Given the description of an element on the screen output the (x, y) to click on. 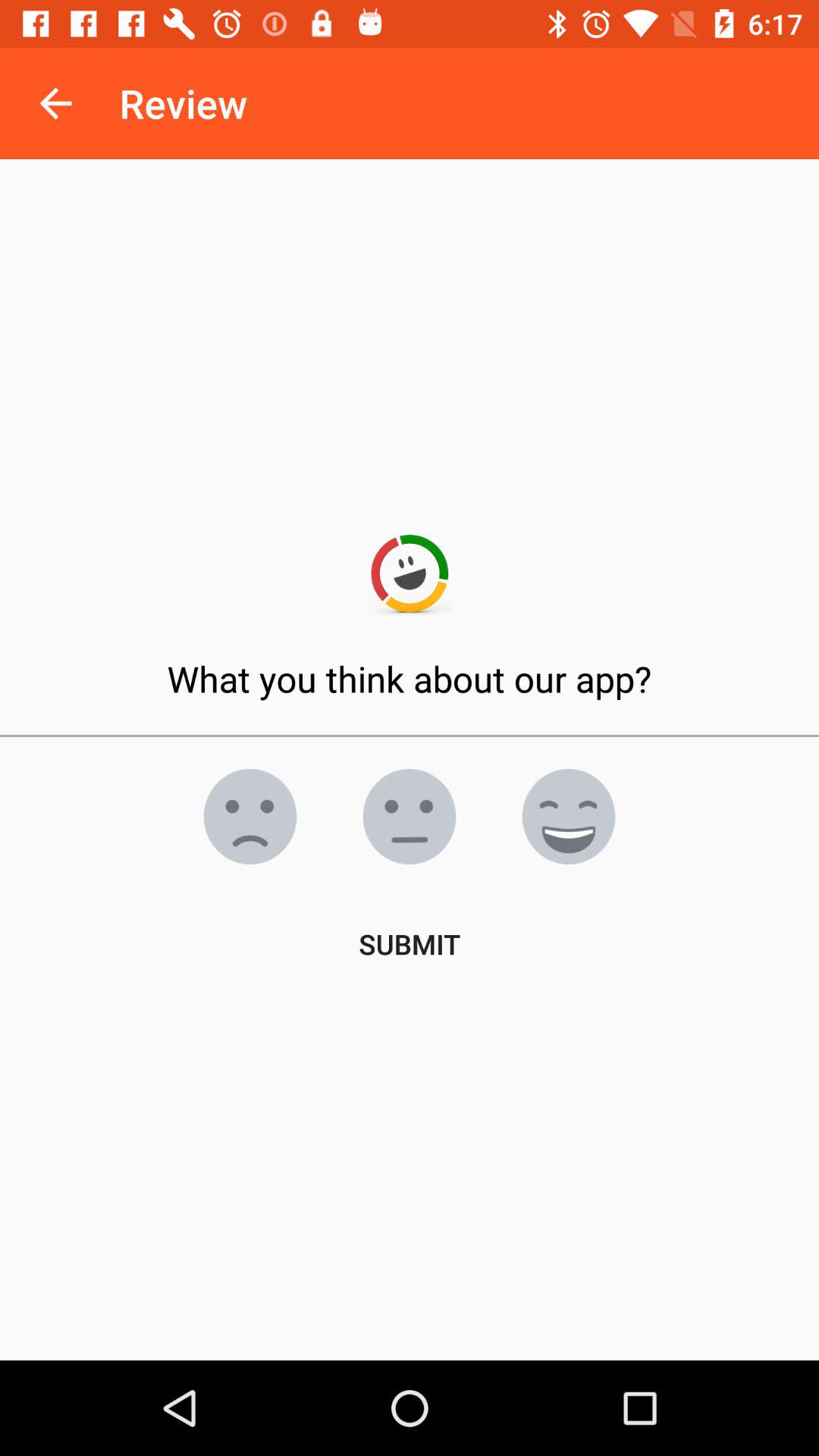
choose item to the left of review icon (55, 103)
